Given the description of an element on the screen output the (x, y) to click on. 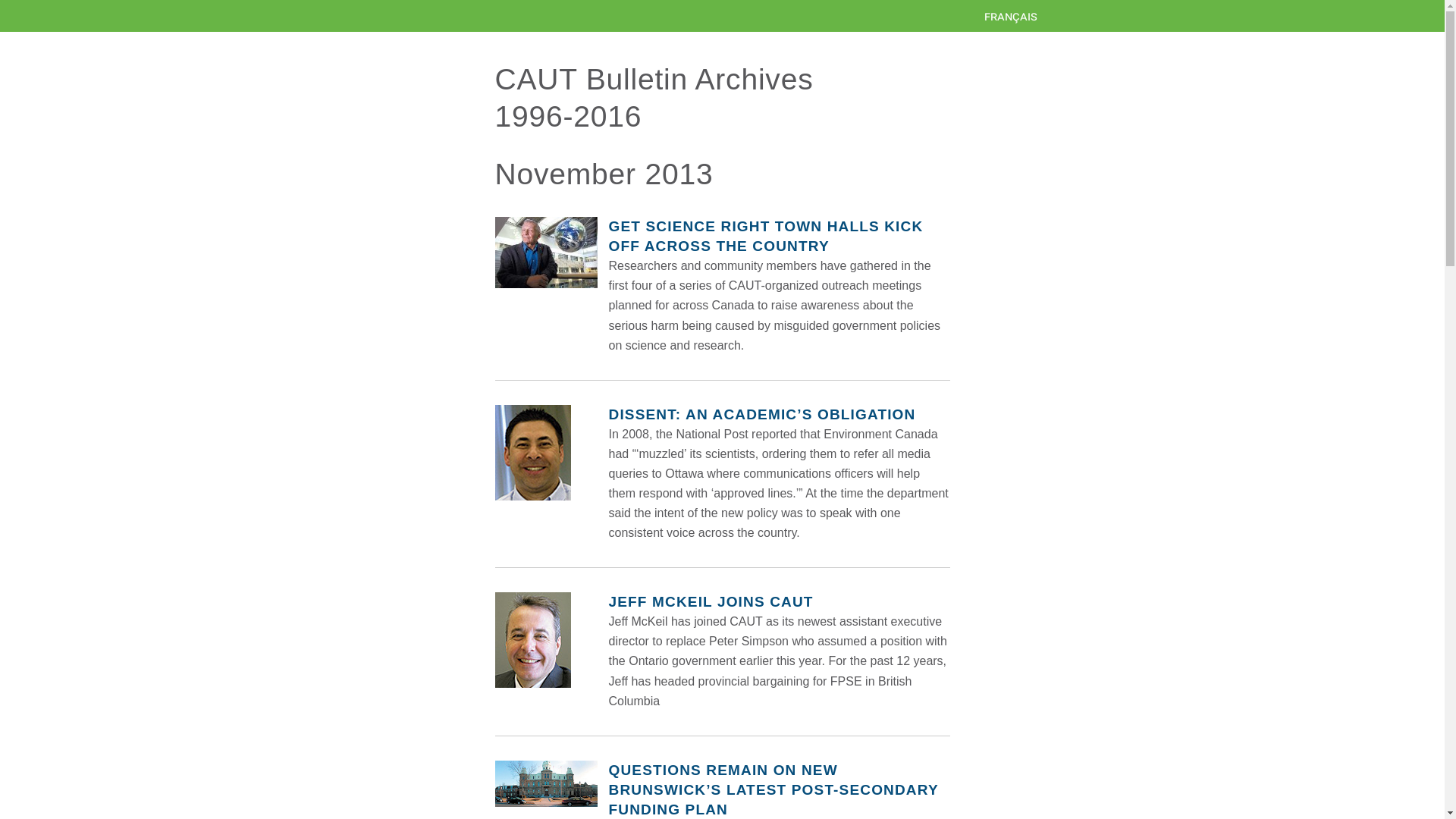
Home (723, 15)
GET SCIENCE RIGHT TOWN HALLS KICK OFF ACROSS THE COUNTRY (765, 235)
JEFF MCKEIL JOINS CAUT (710, 601)
